Given the description of an element on the screen output the (x, y) to click on. 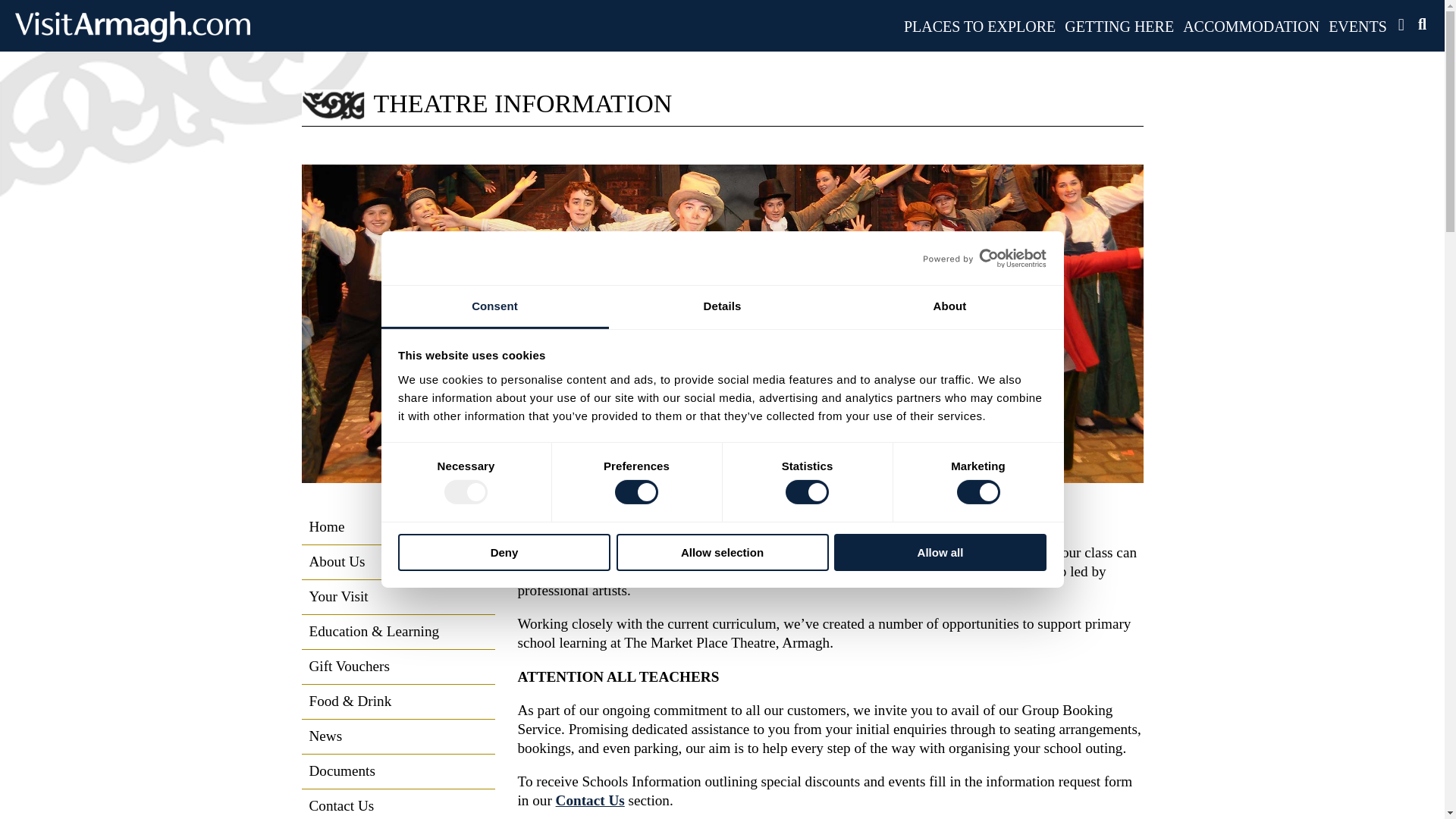
About (948, 307)
Details (721, 307)
Consent (494, 307)
